Given the description of an element on the screen output the (x, y) to click on. 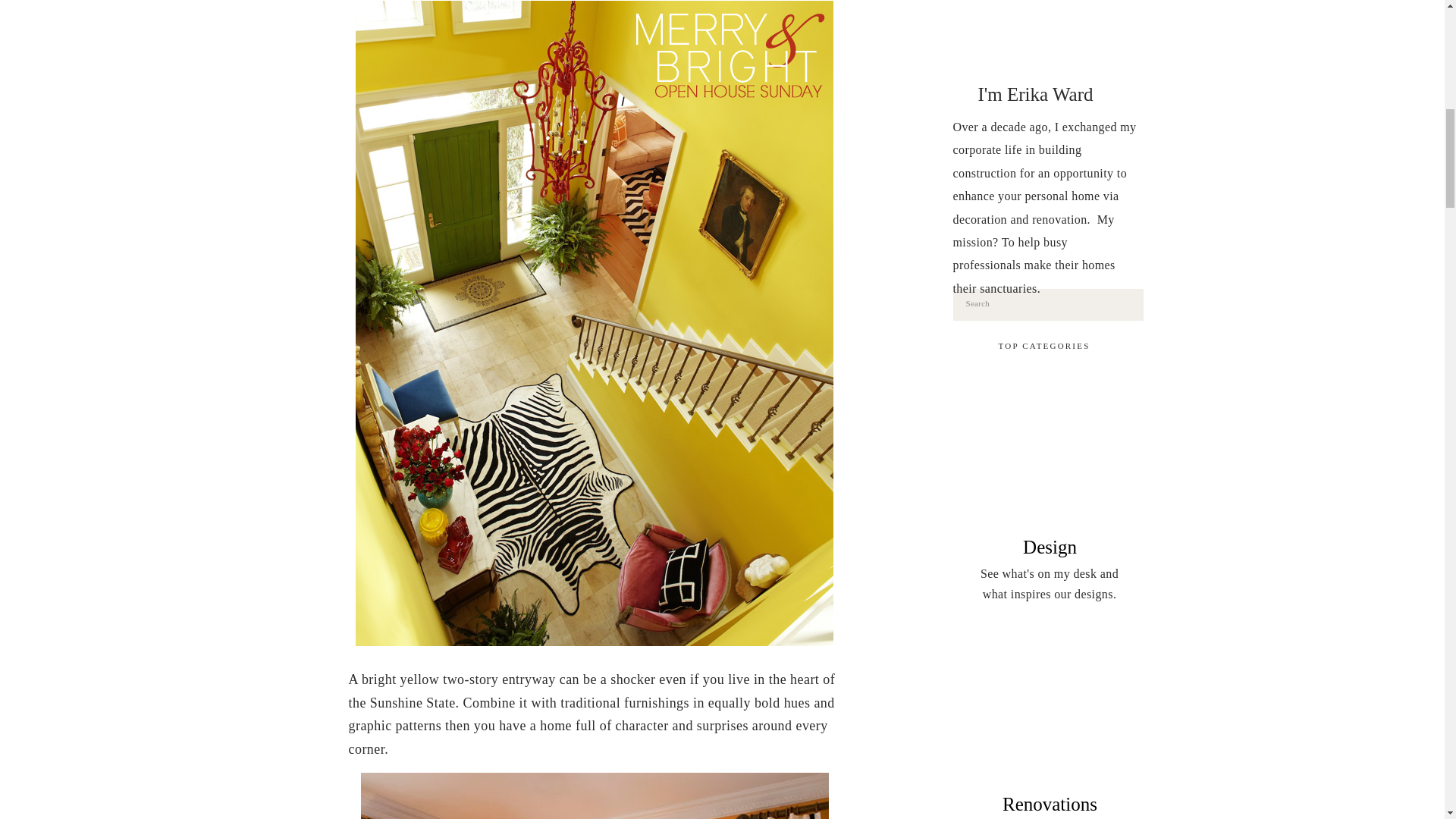
Marmalade-Interiors-family-room-wideshot-BLB (594, 796)
